Given the description of an element on the screen output the (x, y) to click on. 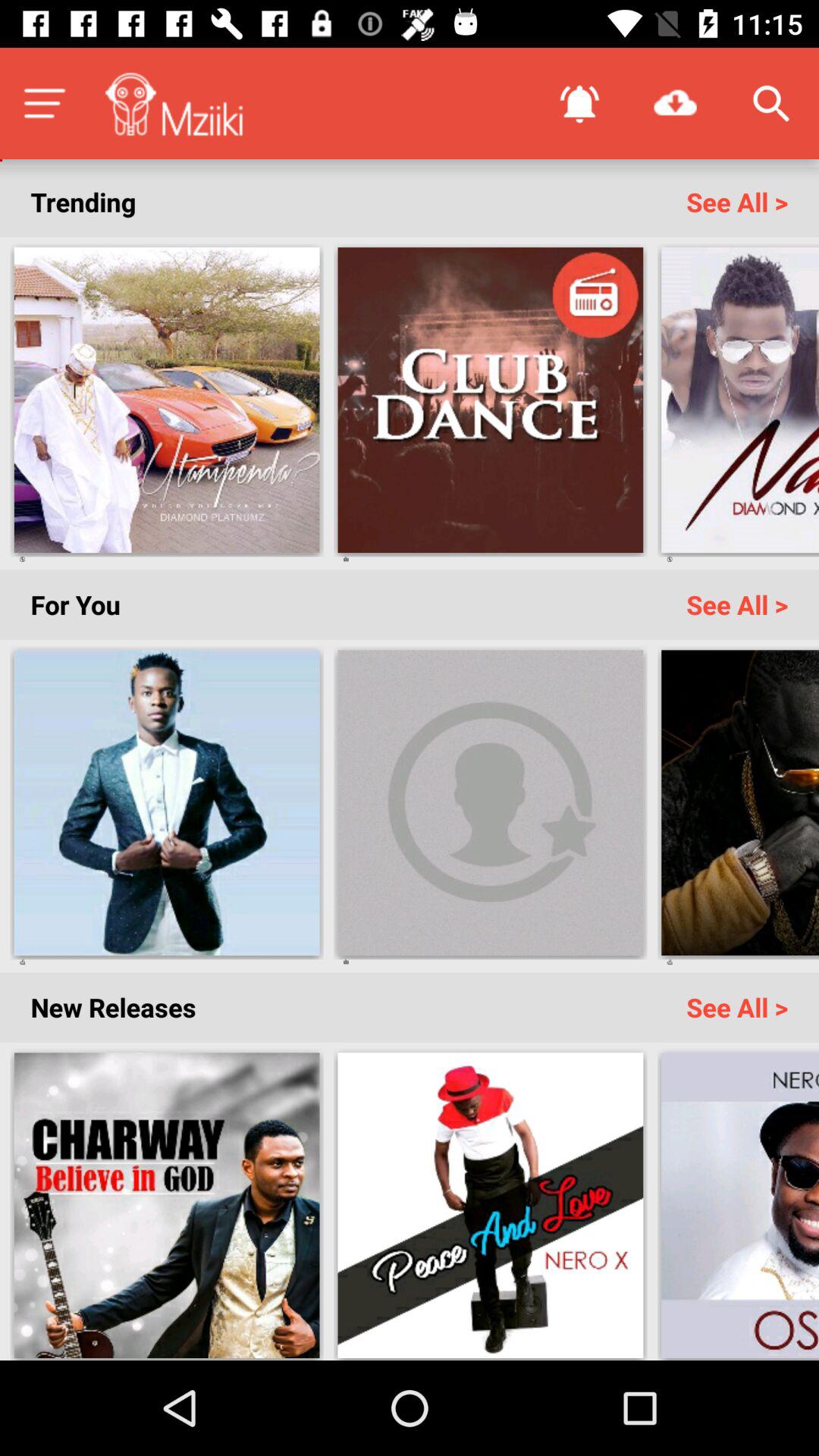
menu (44, 103)
